Given the description of an element on the screen output the (x, y) to click on. 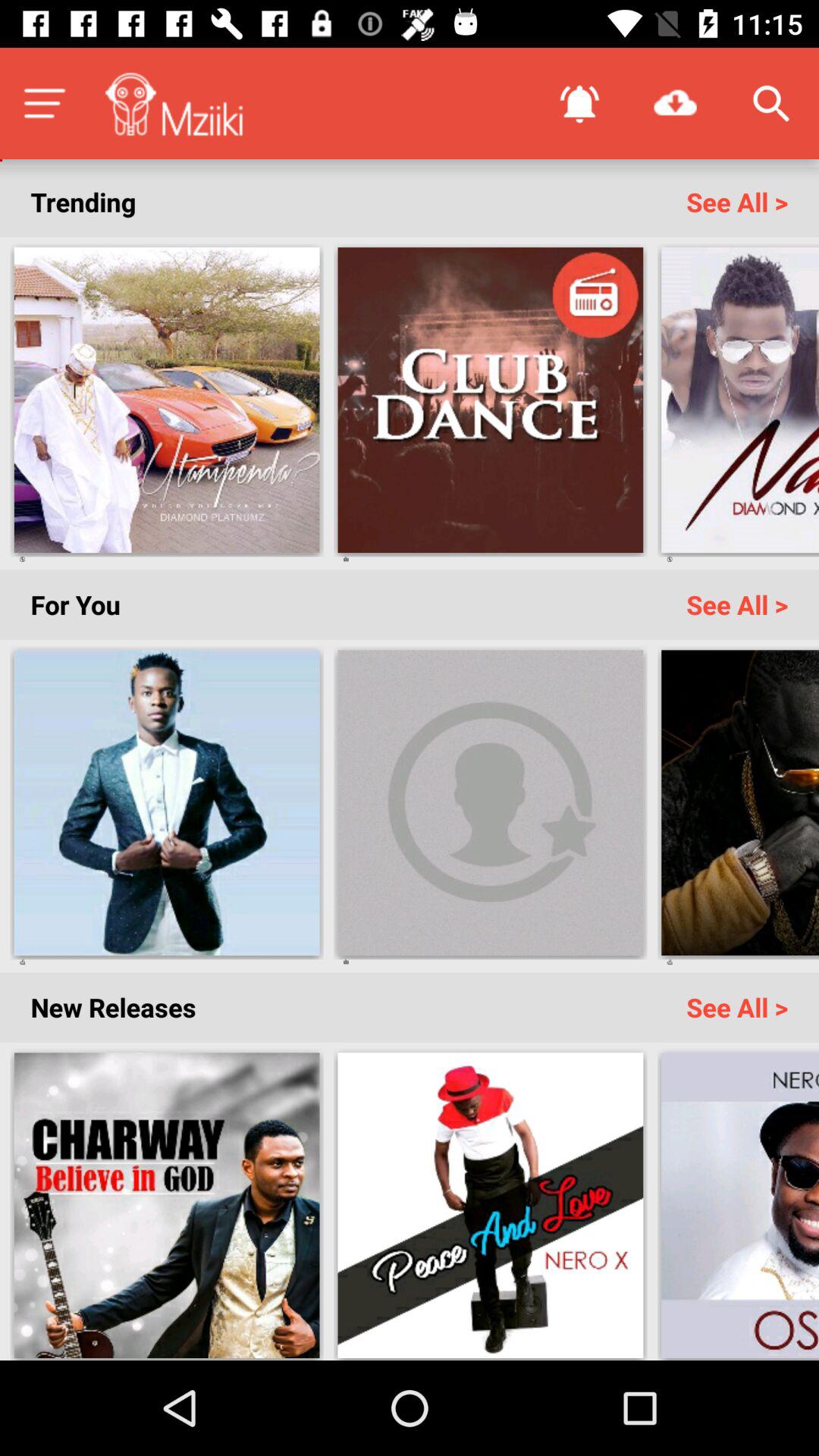
menu (44, 103)
